Given the description of an element on the screen output the (x, y) to click on. 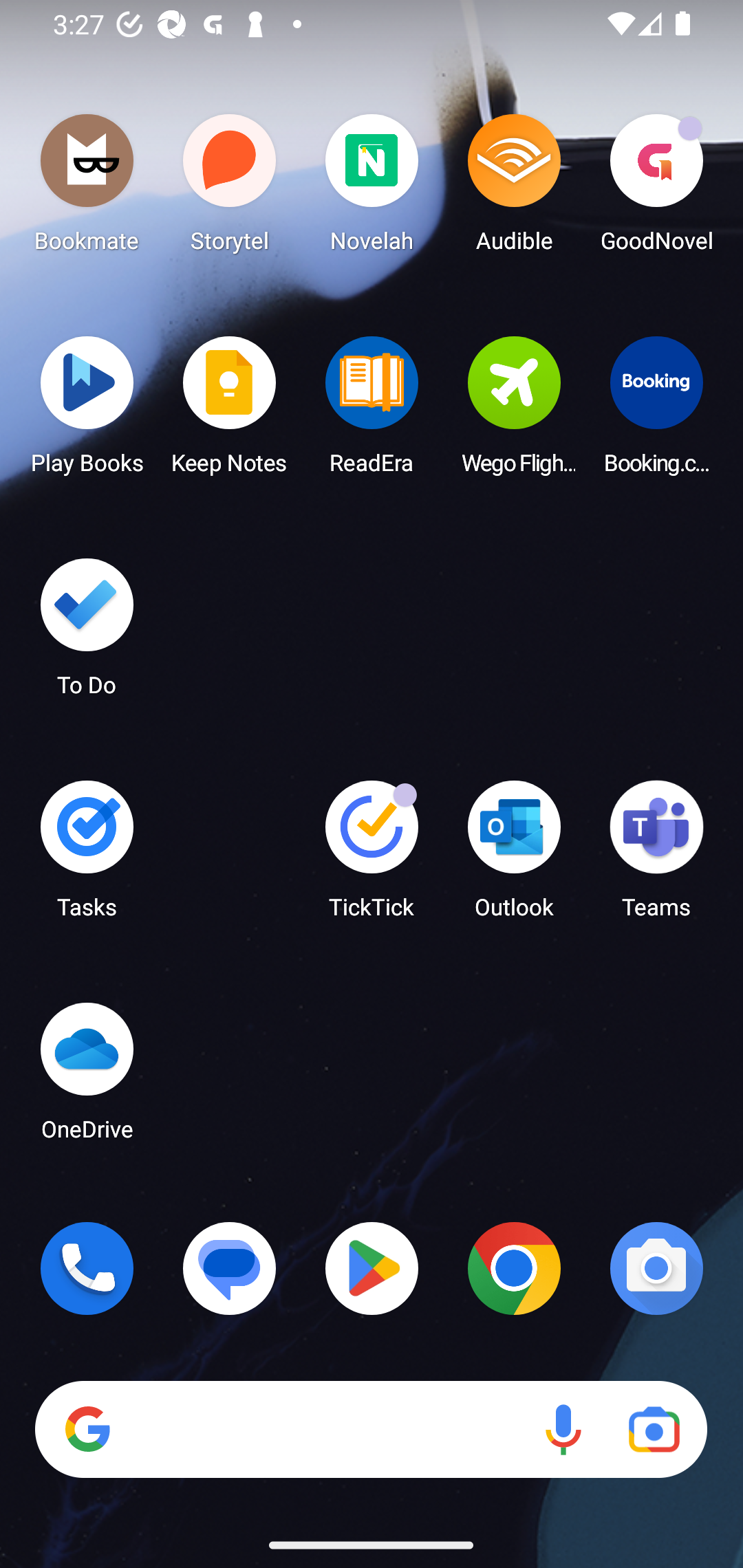
Bookmate (86, 188)
Storytel (229, 188)
Novelah (371, 188)
Audible (513, 188)
GoodNovel GoodNovel has 1 notification (656, 188)
Play Books (86, 410)
Keep Notes (229, 410)
ReadEra (371, 410)
Wego Flights & Hotels (513, 410)
Booking.com (656, 410)
To Do (86, 633)
Tasks (86, 854)
TickTick TickTick has 3 notifications (371, 854)
Outlook (513, 854)
Teams (656, 854)
OneDrive (86, 1076)
Phone (86, 1268)
Messages (229, 1268)
Play Store (371, 1268)
Chrome (513, 1268)
Camera (656, 1268)
Search Voice search Google Lens (370, 1429)
Voice search (562, 1429)
Google Lens (653, 1429)
